Given the description of an element on the screen output the (x, y) to click on. 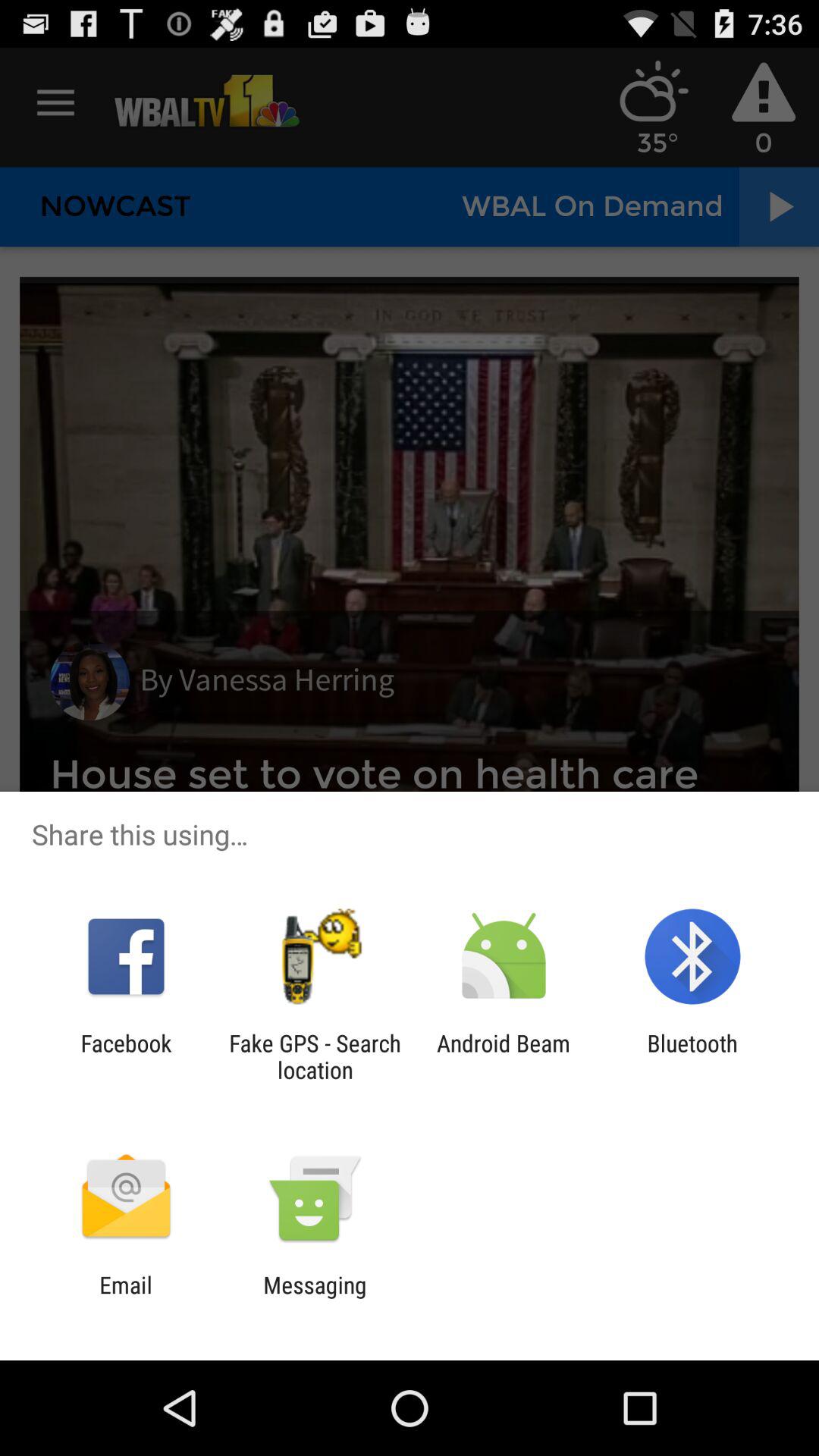
jump until the messaging icon (314, 1298)
